Given the description of an element on the screen output the (x, y) to click on. 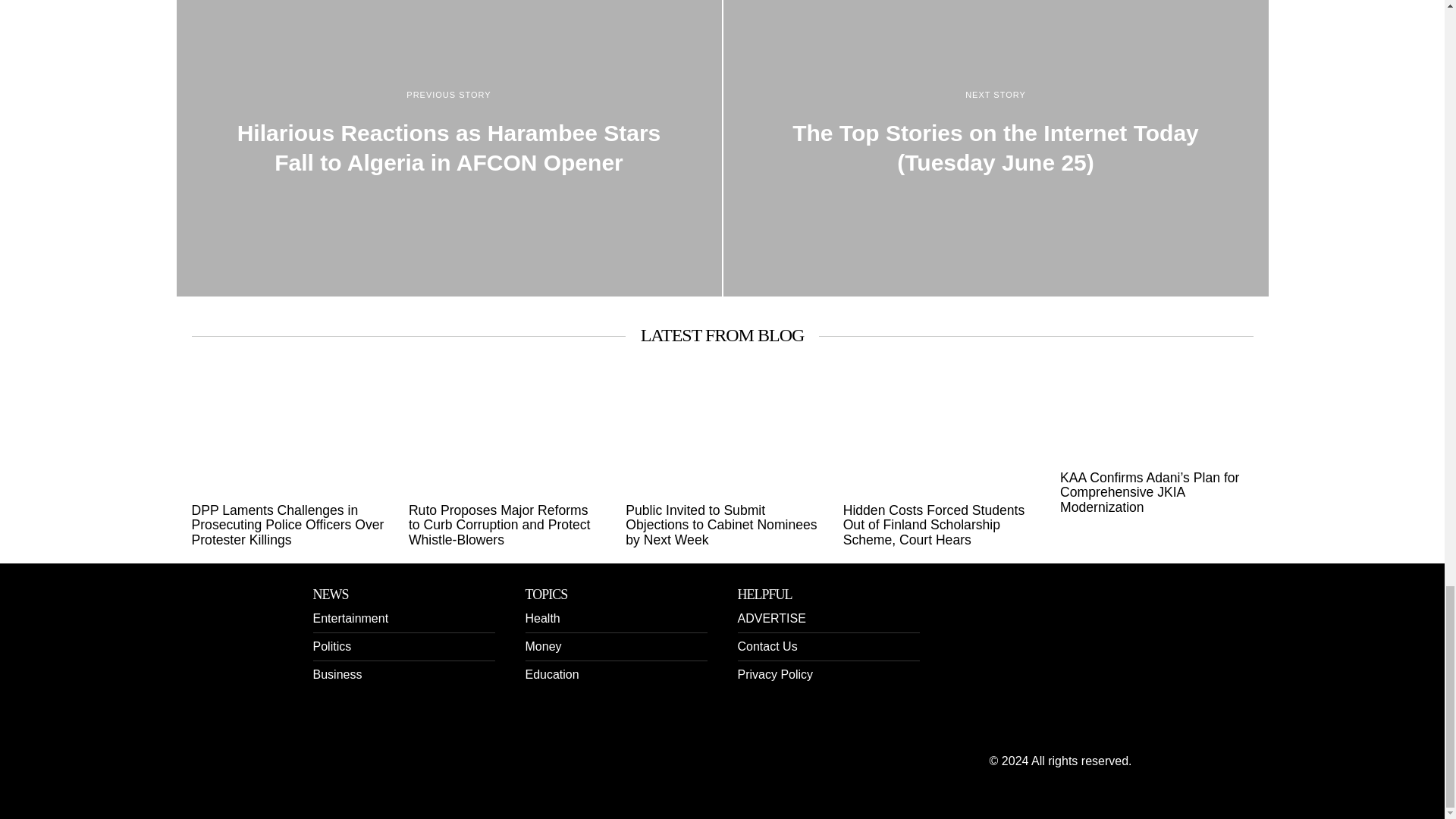
Entertainment (350, 617)
